Given the description of an element on the screen output the (x, y) to click on. 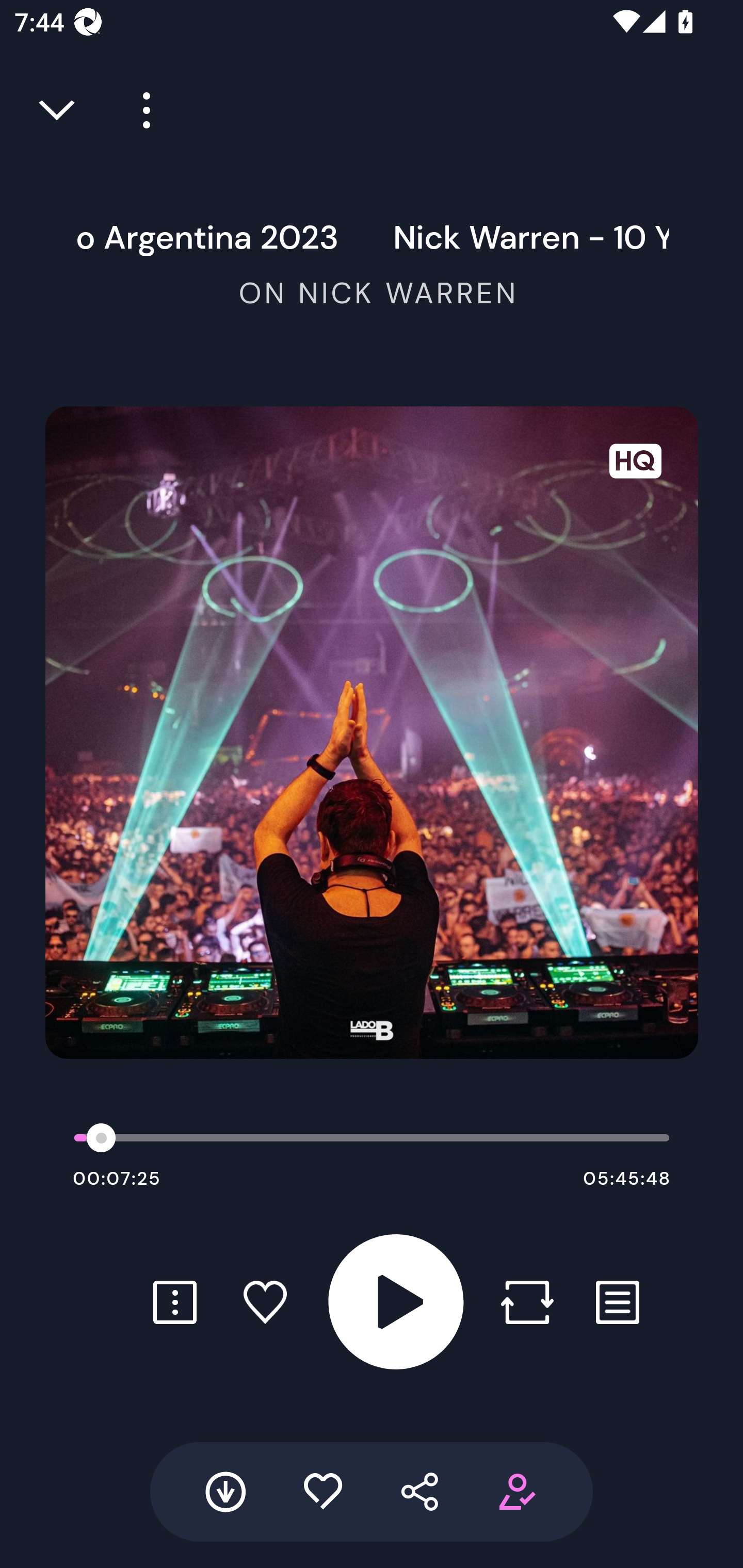
Close full player (58, 110)
Player more options button (139, 110)
Repost button (527, 1301)
